Given the description of an element on the screen output the (x, y) to click on. 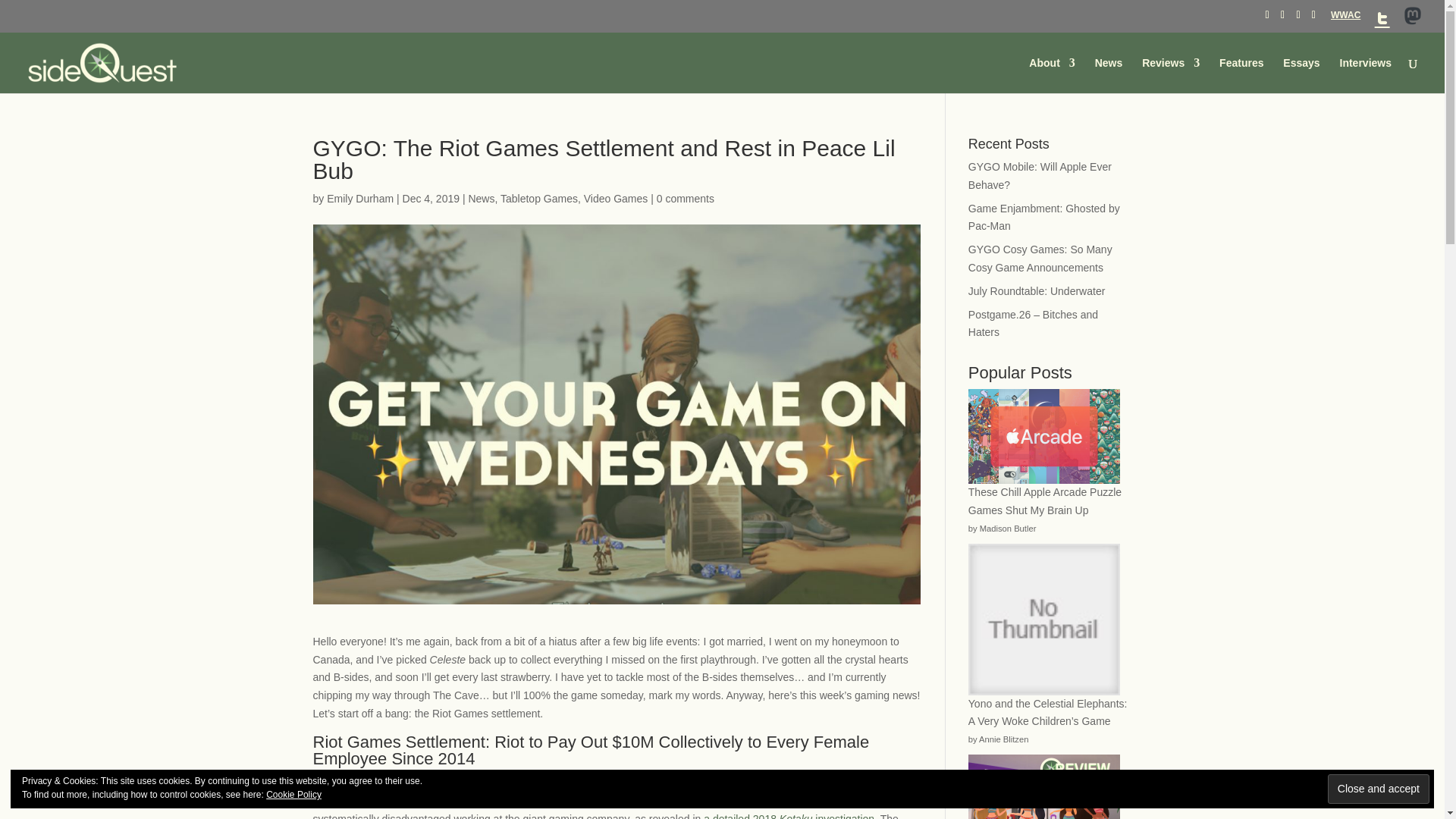
Tabletop Games (539, 198)
News (481, 198)
Emily Durham (359, 198)
Essays (1300, 75)
About (1051, 75)
Close and accept (1378, 788)
Posts by Emily Durham (359, 198)
Reviews (1170, 75)
Interviews (1365, 75)
WWAC (1344, 18)
Features (1241, 75)
